Given the description of an element on the screen output the (x, y) to click on. 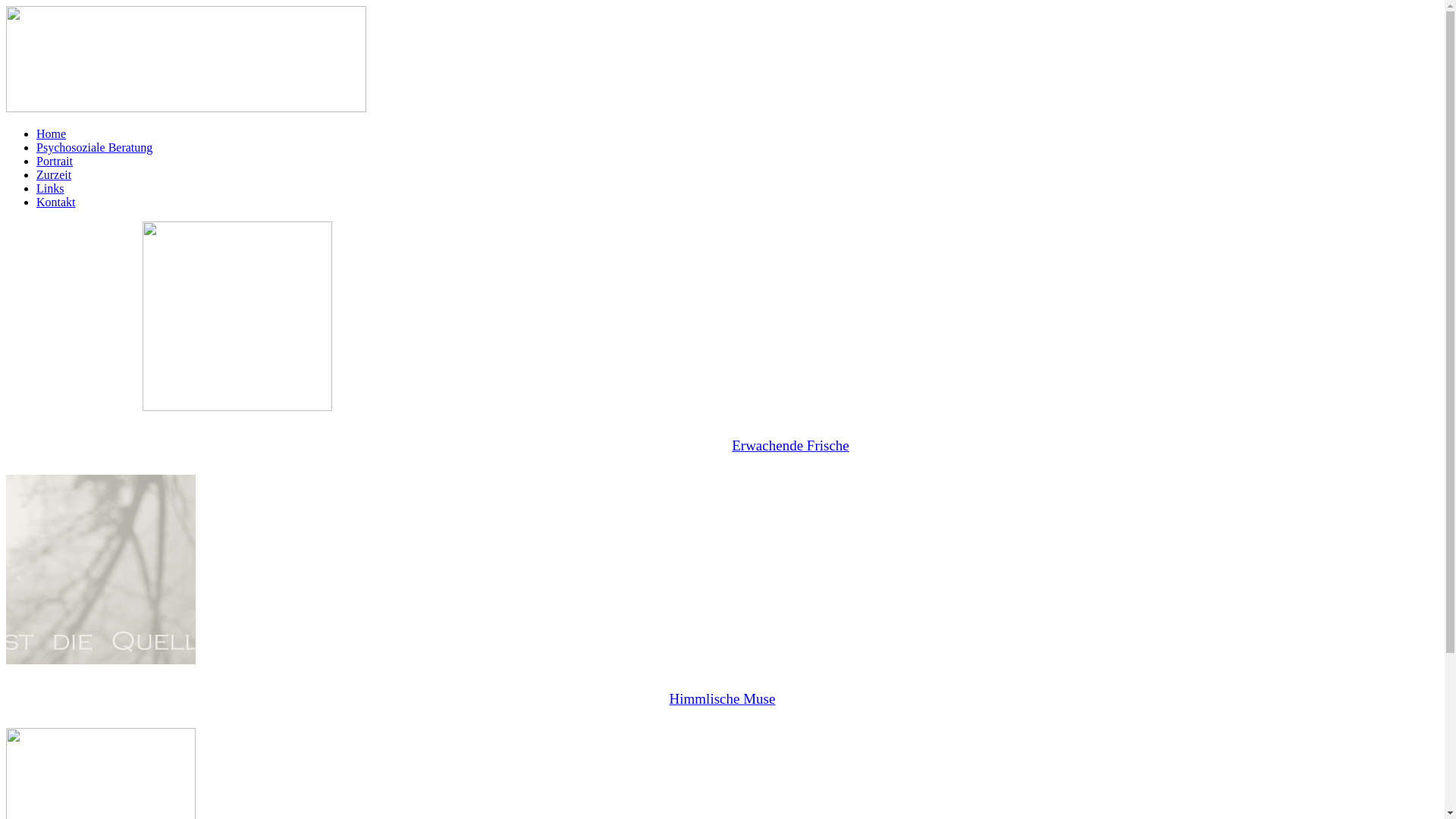
Links Element type: text (49, 188)
Psychosoziale Beratung Element type: text (94, 147)
Himmlische Muse Element type: text (722, 698)
Home Element type: text (50, 133)
Kontakt Element type: text (55, 201)
Portrait Element type: text (54, 160)
Erwachende Frische Element type: text (790, 445)
Zurzeit Element type: text (53, 174)
